Given the description of an element on the screen output the (x, y) to click on. 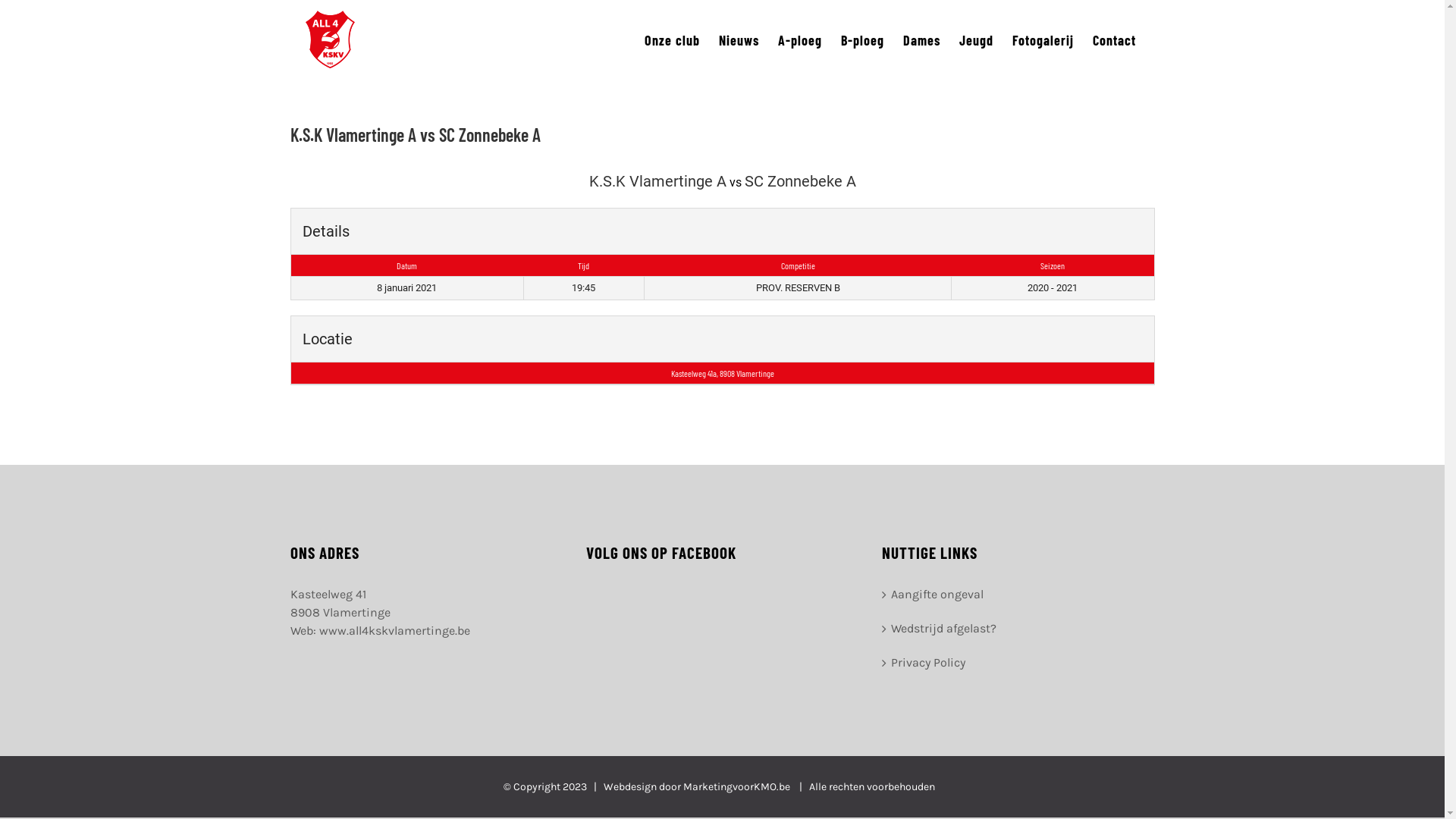
Onze club Element type: text (671, 39)
Aangifte ongeval Element type: text (1018, 594)
www.all4kskvlamertinge.be Element type: text (393, 630)
Fotogalerij Element type: text (1042, 39)
B-ploeg Element type: text (861, 39)
A-ploeg Element type: text (800, 39)
Contact Element type: text (1113, 39)
Wedstrijd afgelast? Element type: text (1018, 628)
Dames Element type: text (920, 39)
MarketingvoorKMO.be Element type: text (735, 786)
Nieuws Element type: text (738, 39)
Privacy Policy Element type: text (1018, 662)
Jeugd Element type: text (975, 39)
